Given the description of an element on the screen output the (x, y) to click on. 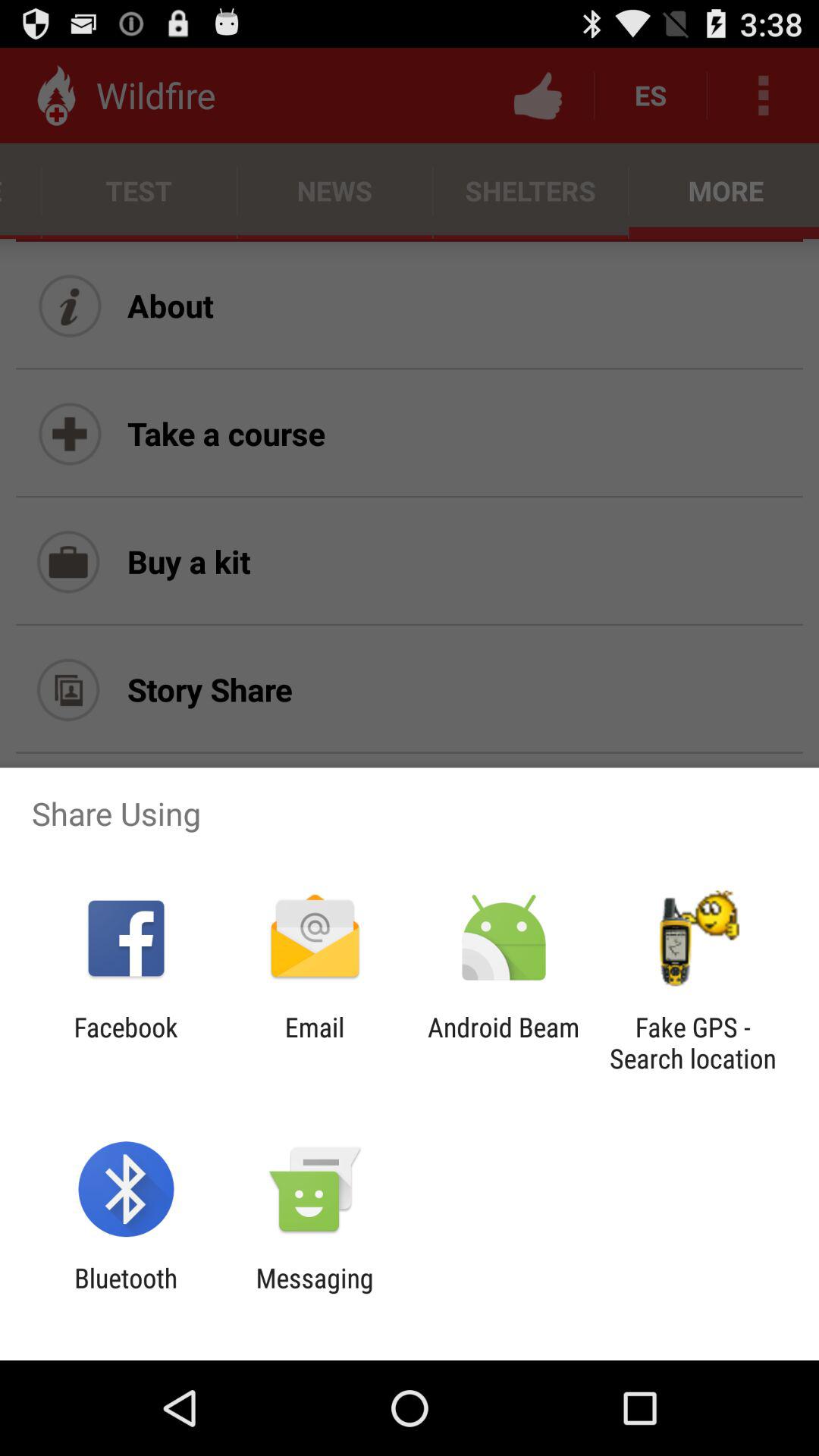
click icon next to the android beam app (692, 1042)
